Given the description of an element on the screen output the (x, y) to click on. 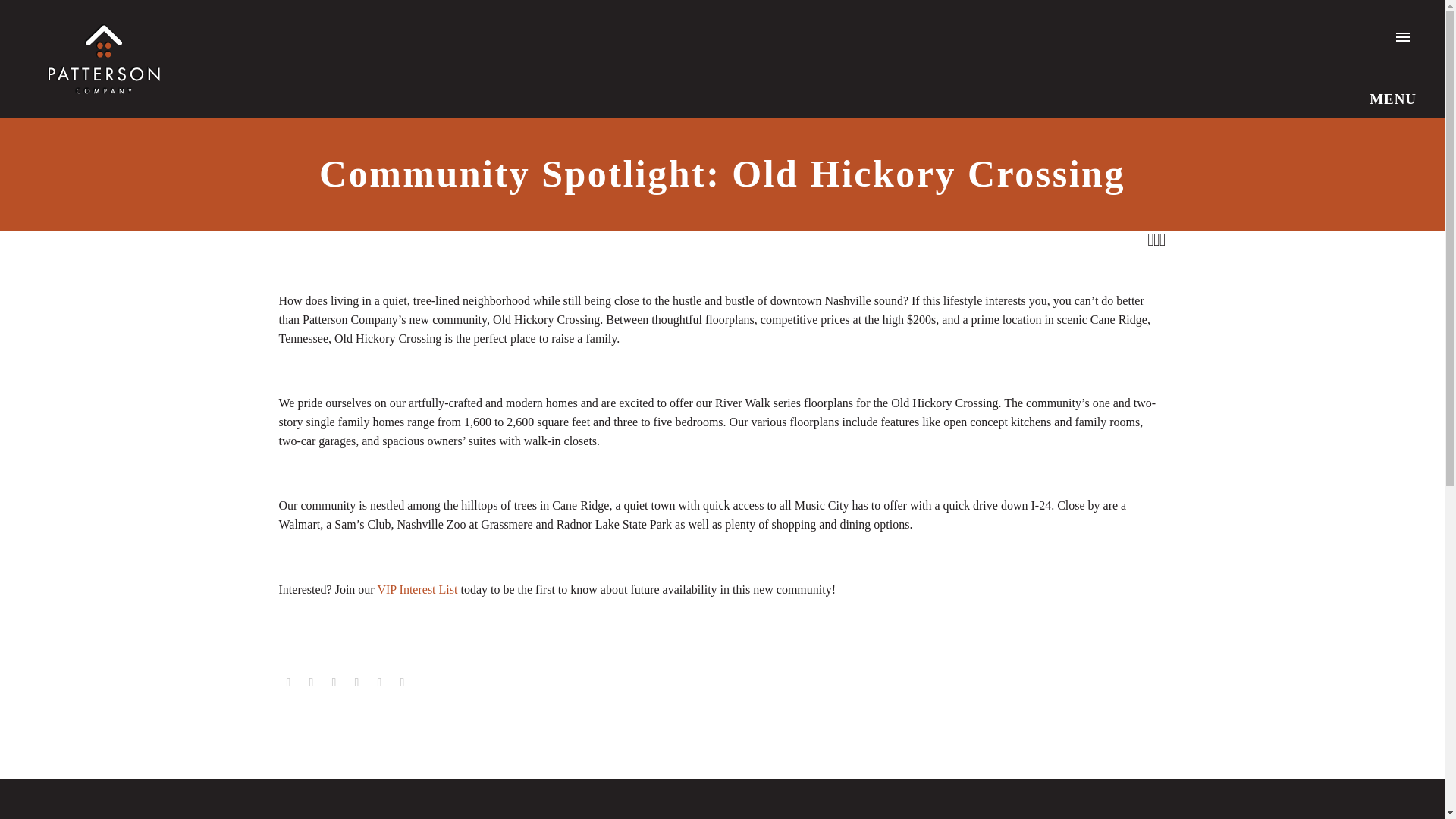
Twitter (310, 682)
Pinterest (333, 682)
VIP Interest List (417, 589)
Primary Menu (1402, 37)
Facebook (288, 682)
LinkedIn (378, 682)
Reddit (401, 682)
Tumblr (356, 682)
